Given the description of an element on the screen output the (x, y) to click on. 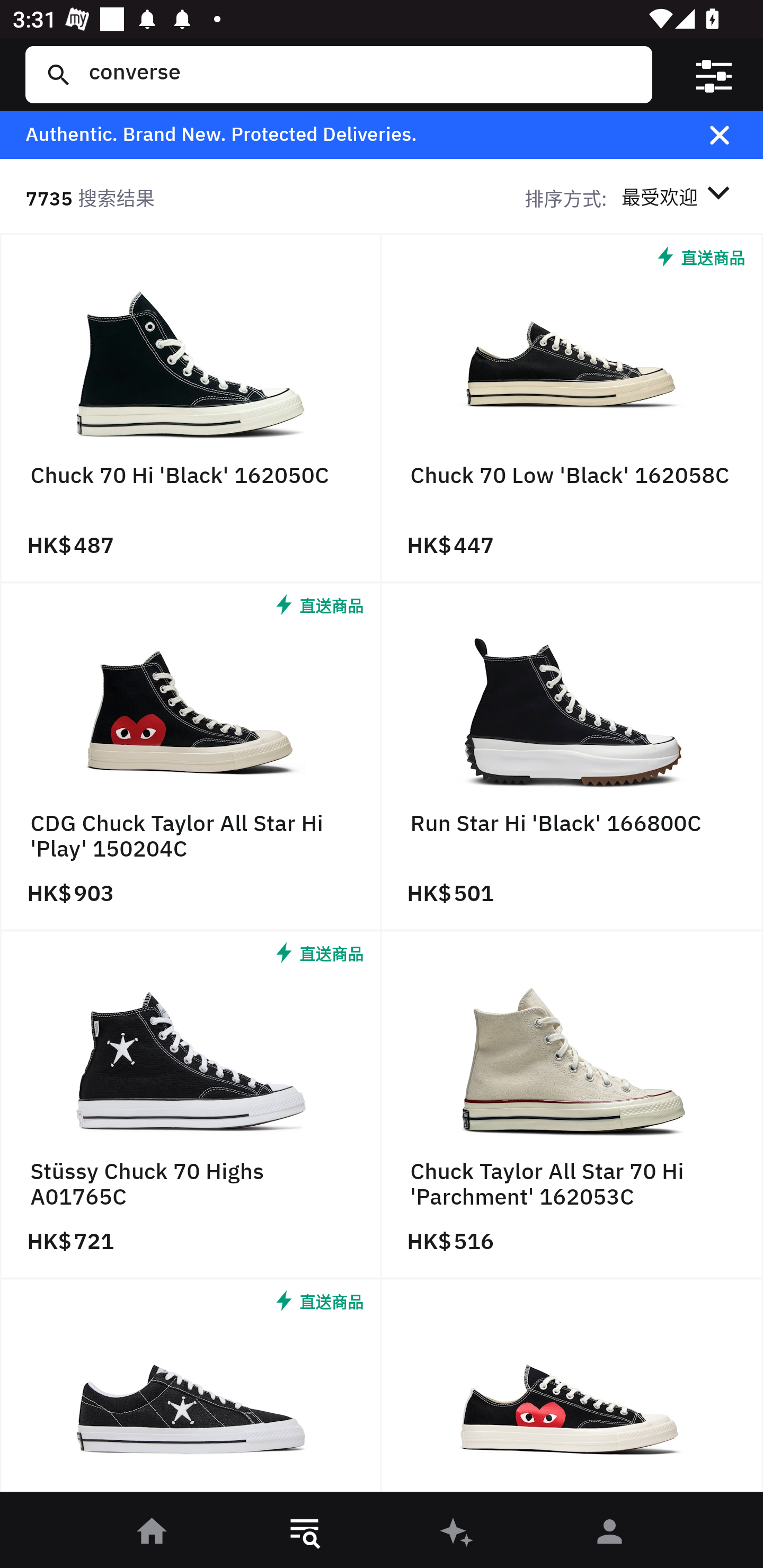
converse (358, 74)
 (713, 74)
Authentic. Brand New. Protected Deliveries. (350, 134)
 (732, 134)
最受欢迎  (678, 196)
Chuck 70 Hi 'Black' 162050C HK$ 487 (190, 409)
 直送商品 Chuck 70 Low 'Black' 162058C HK$ 447 (572, 409)
Run Star Hi 'Black' 166800C HK$ 501 (572, 757)
 直送商品 Stüssy Chuck 70 Highs A01765C HK$ 721 (190, 1105)
 直送商品 (190, 1389)
󰋜 (152, 1532)
󱎸 (305, 1532)
󰫢 (457, 1532)
󰀄 (610, 1532)
